Given the description of an element on the screen output the (x, y) to click on. 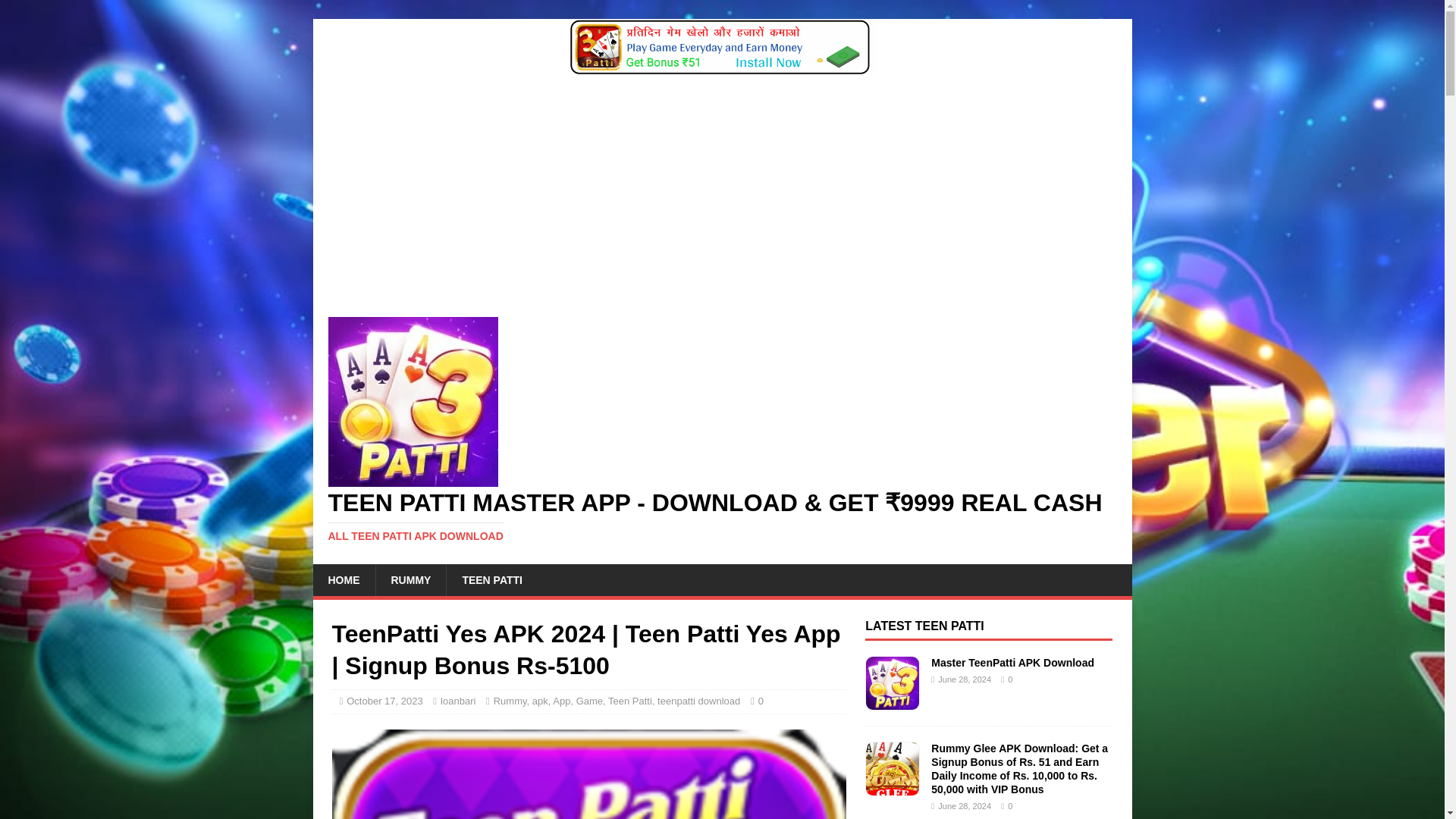
TEEN PATTI (491, 580)
apk (540, 700)
Untitled-design-2022-05-27T175052.007-300x300-1 (588, 774)
loanbari (458, 700)
Rummy (510, 700)
Game (589, 700)
Teen Patti (630, 700)
App (561, 700)
teenpatti download (698, 700)
HOME (343, 580)
October 17, 2023 (384, 700)
RUMMY (409, 580)
